Given the description of an element on the screen output the (x, y) to click on. 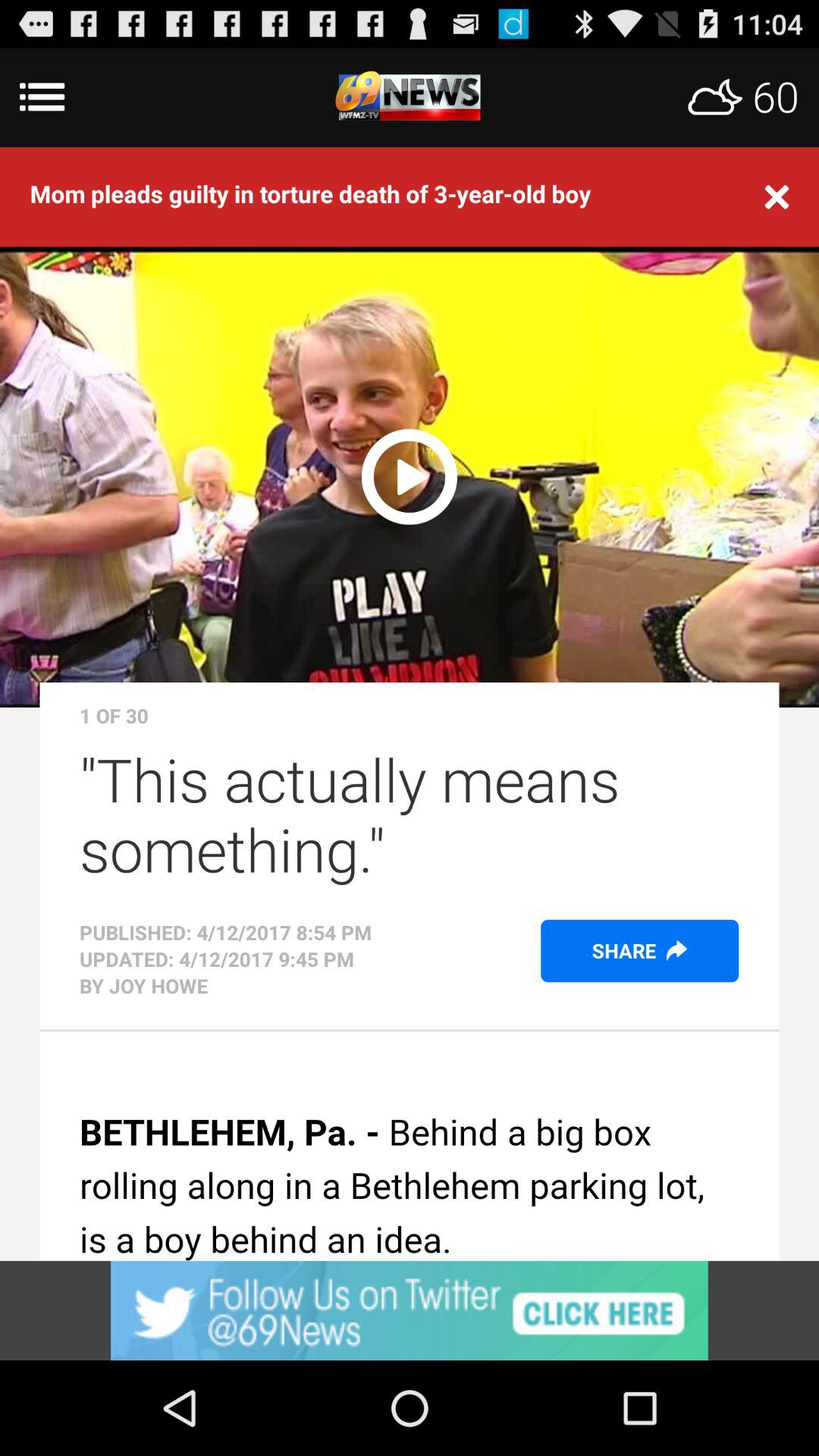
video panel (409, 474)
